Given the description of an element on the screen output the (x, y) to click on. 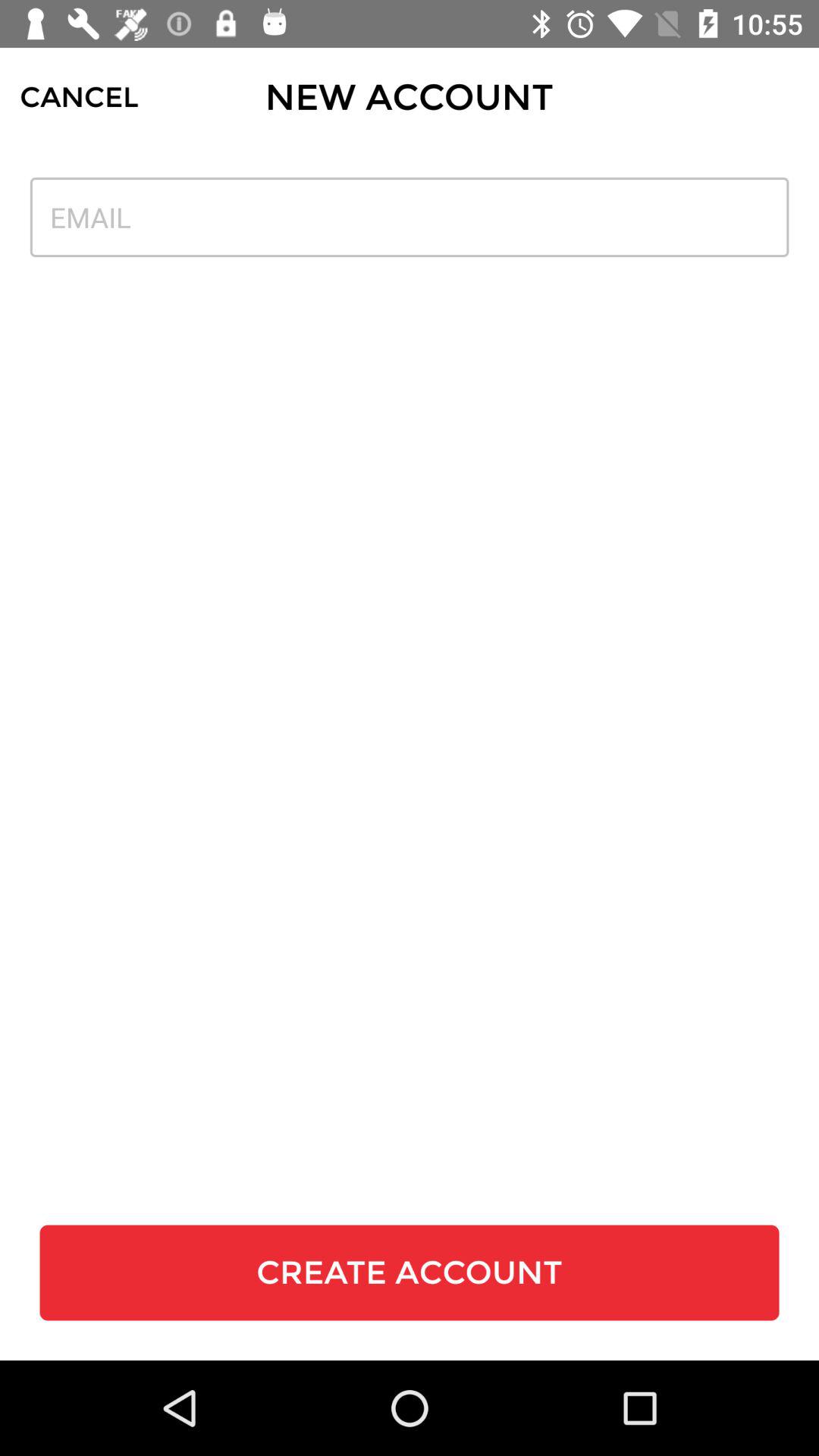
turn on icon at the top left corner (78, 97)
